Given the description of an element on the screen output the (x, y) to click on. 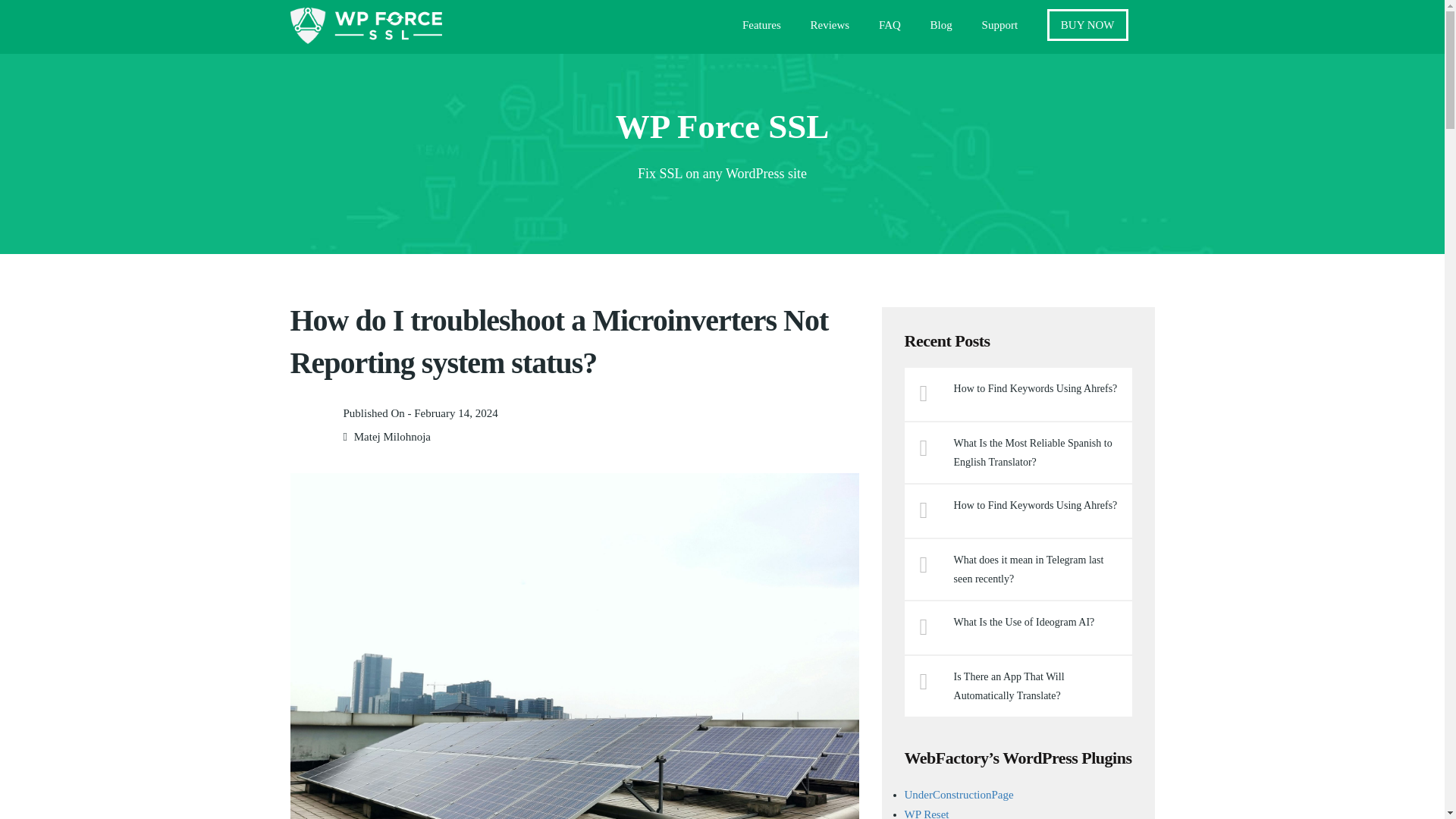
Matej Milohnoja (391, 436)
Reviews (830, 28)
What does it mean in Telegram last seen recently? (1037, 569)
UnderConstructionPage (958, 794)
How to Find Keywords Using Ahrefs? (1037, 505)
WP Reset (926, 813)
What Is the Most Reliable Spanish to English Translator? (1037, 452)
Features (761, 28)
What Is the Use of Ideogram AI? (1037, 621)
BUY NOW (1087, 24)
February 14, 2024 (455, 413)
How to Find Keywords Using Ahrefs? (1037, 388)
Support (999, 28)
Is There an App That Will Automatically Translate? (1037, 686)
